Given the description of an element on the screen output the (x, y) to click on. 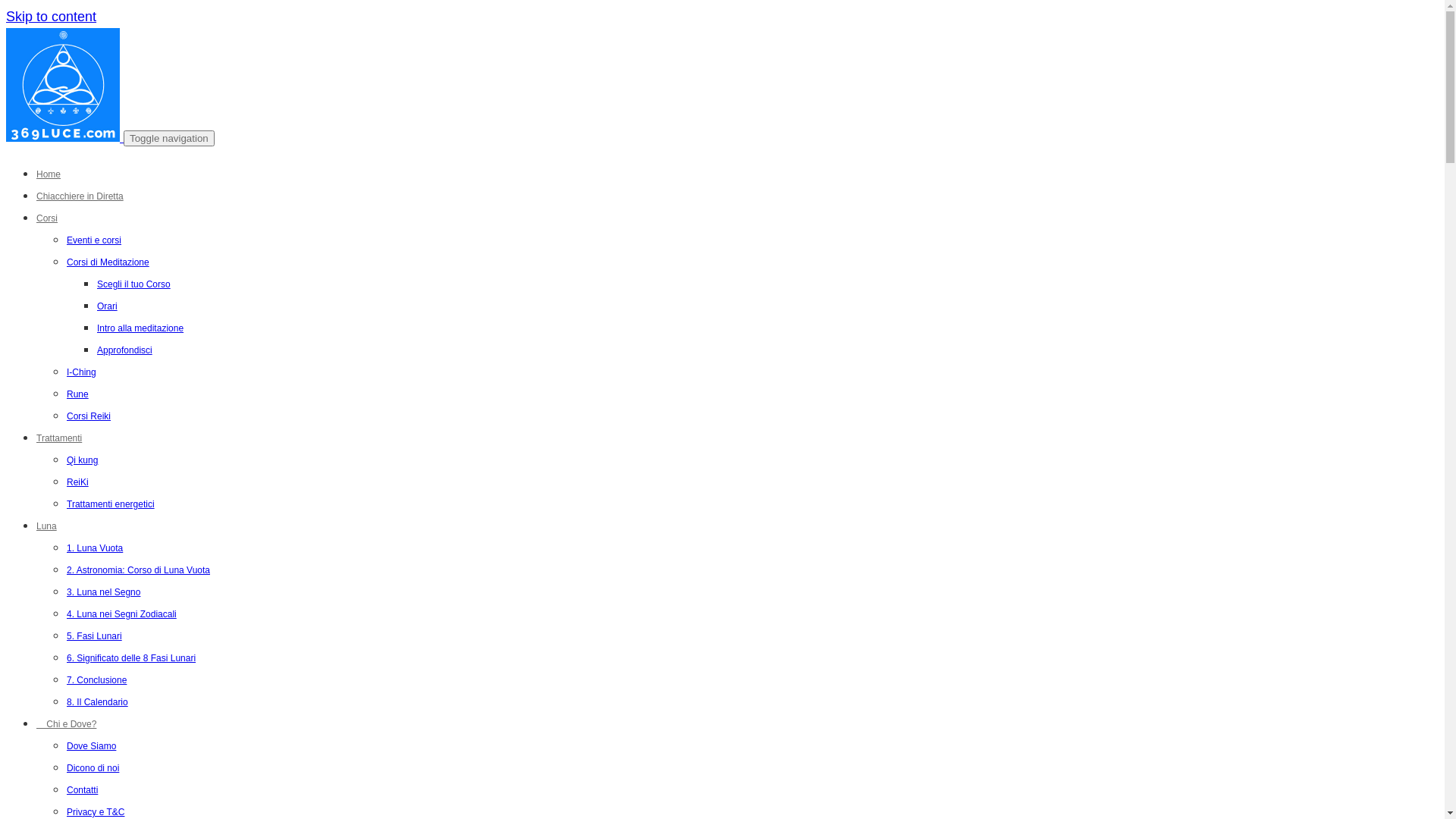
5. Fasi Lunari Element type: text (94, 635)
8. Il Calendario Element type: text (97, 701)
Corsi Reiki Element type: text (88, 416)
3 6 9 Luce Element type: hover (62, 84)
Contatti Element type: text (81, 789)
Trattamenti Element type: text (58, 438)
Orari Element type: text (107, 306)
Corsi Element type: text (46, 218)
Luna Element type: text (46, 525)
    Chi e Dove? Element type: text (66, 723)
Dicono di noi Element type: text (92, 767)
Chiacchiere in Diretta Element type: text (79, 196)
Skip to content Element type: text (51, 16)
7. Conclusione Element type: text (96, 679)
6. Significato delle 8 Fasi Lunari Element type: text (130, 657)
Dove Siamo Element type: text (91, 745)
Toggle navigation Element type: text (168, 138)
Rune Element type: text (77, 394)
Eventi e corsi Element type: text (93, 240)
4. Luna nei Segni Zodiacali Element type: text (121, 613)
Scegli il tuo Corso Element type: text (133, 284)
Intro alla meditazione Element type: text (140, 328)
Home Element type: text (48, 174)
2. Astronomia: Corso di Luna Vuota Element type: text (138, 569)
I-Ching Element type: text (81, 372)
Trattamenti energetici Element type: text (110, 503)
1. Luna Vuota Element type: text (94, 547)
Corsi di Meditazione Element type: text (107, 262)
Approfondisci Element type: text (124, 350)
ReiKi Element type: text (77, 481)
Qi kung Element type: text (81, 460)
Privacy e T&C Element type: text (95, 811)
3. Luna nel Segno Element type: text (103, 591)
